Given the description of an element on the screen output the (x, y) to click on. 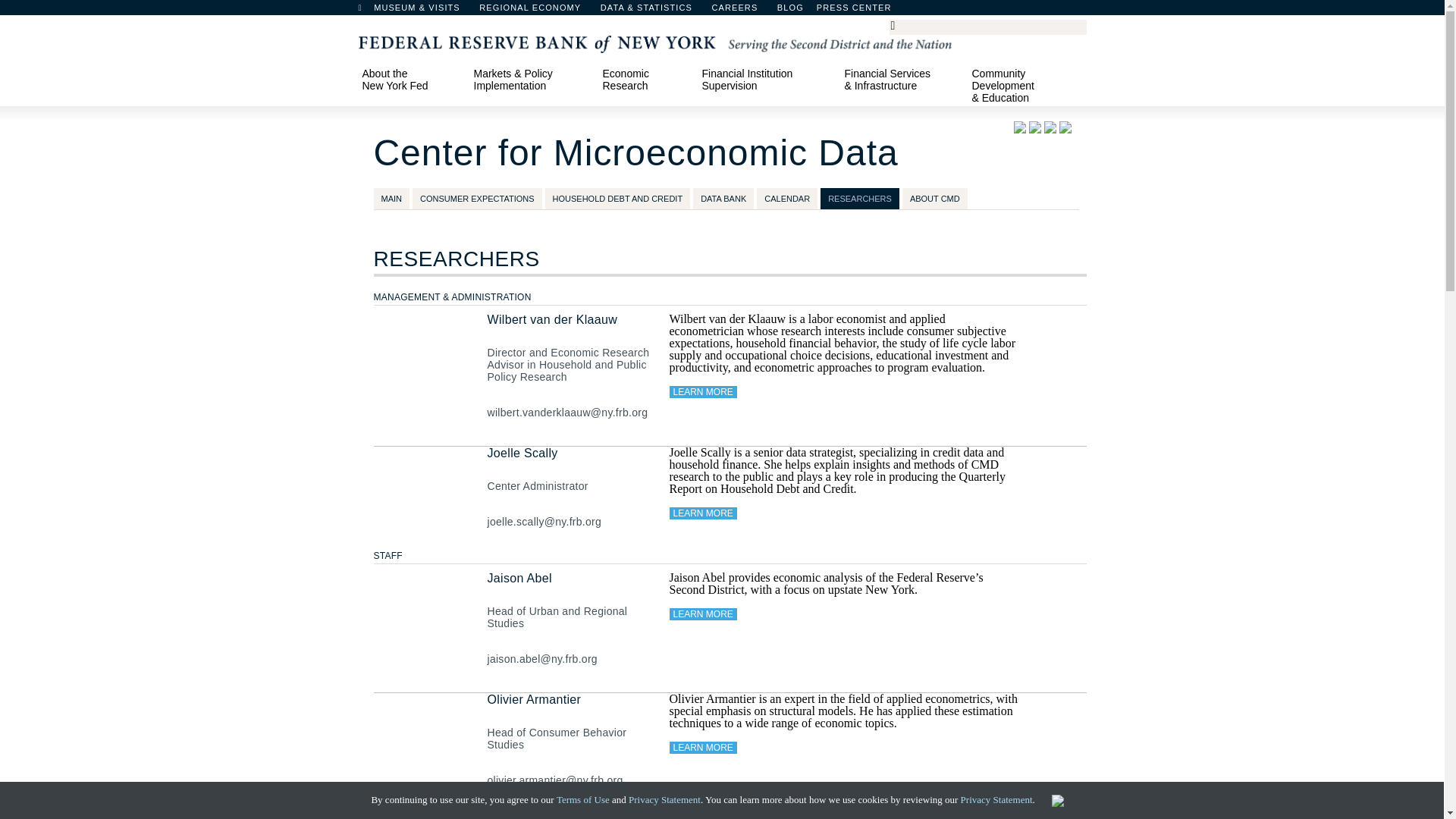
PRESS CENTER (861, 11)
Regional Economy (537, 11)
Home (367, 11)
BLOG (830, 11)
Search Box (985, 26)
About the New York Fed (411, 79)
About the New York Fed (411, 79)
Press Center (861, 11)
Search Form (987, 27)
CAREERS (742, 11)
